Given the description of an element on the screen output the (x, y) to click on. 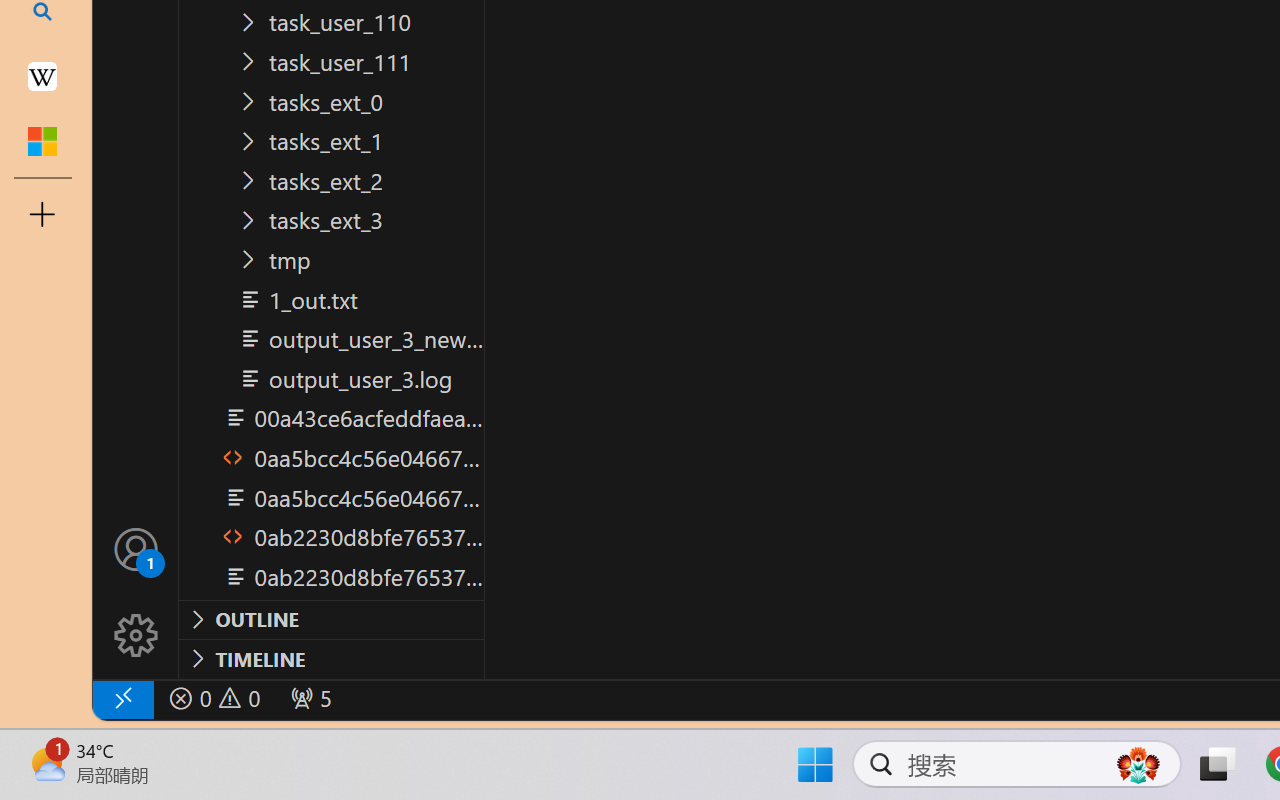
Forwarded Ports: 36301, 47065, 38781, 45817, 50331 (308, 698)
Manage (135, 635)
Accounts - Sign in requested (135, 548)
Manage (135, 591)
remote (122, 698)
No Problems (212, 698)
Earth - Wikipedia (42, 75)
Timeline Section (331, 658)
Outline Section (331, 619)
